Given the description of an element on the screen output the (x, y) to click on. 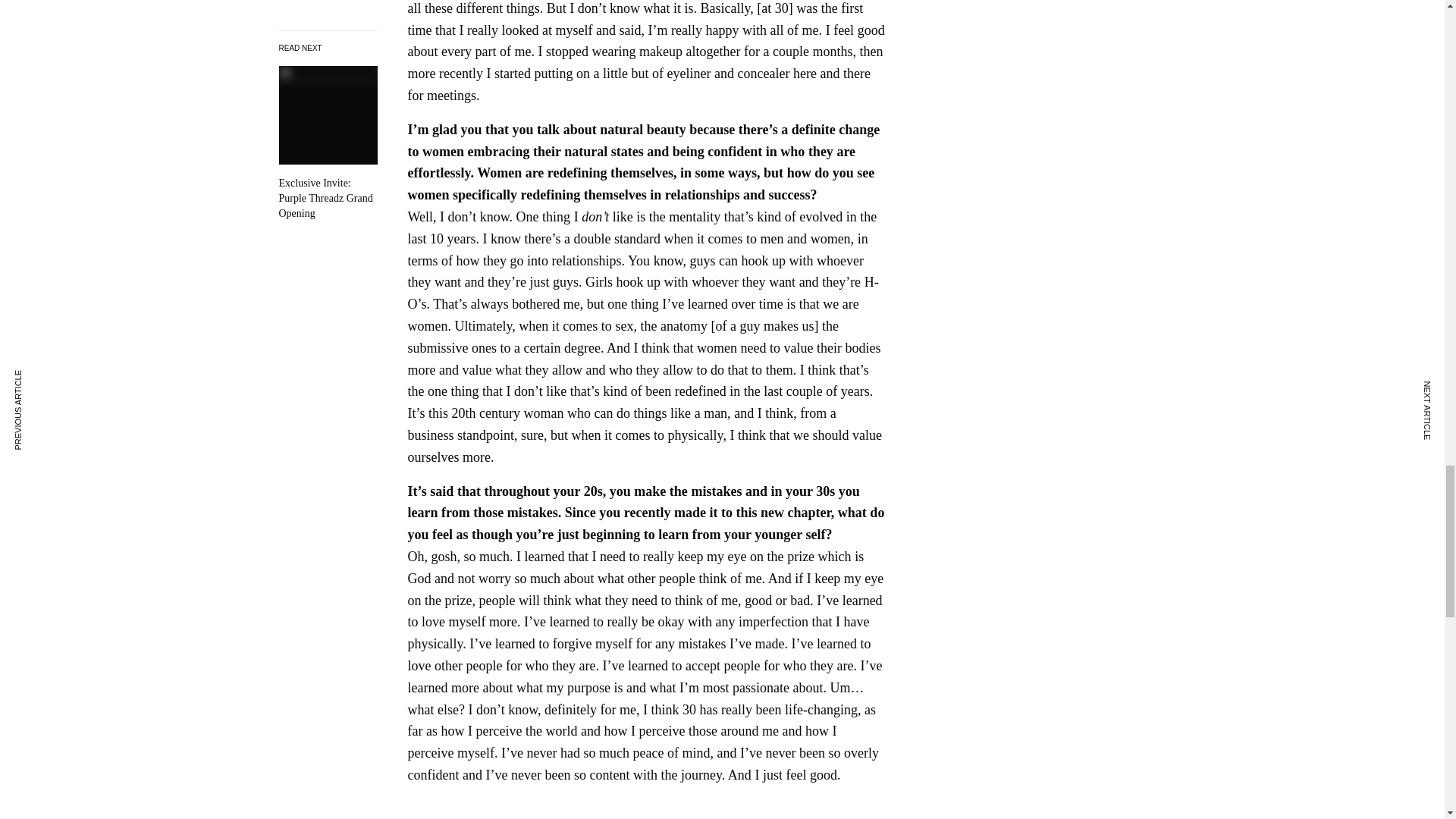
Exclusive Invite: Purple Threadz Grand Opening (328, 143)
vibevixen-meagan-good (601, 808)
meagan-Good-vibe-vixen-300x240 (472, 808)
